Given the description of an element on the screen output the (x, y) to click on. 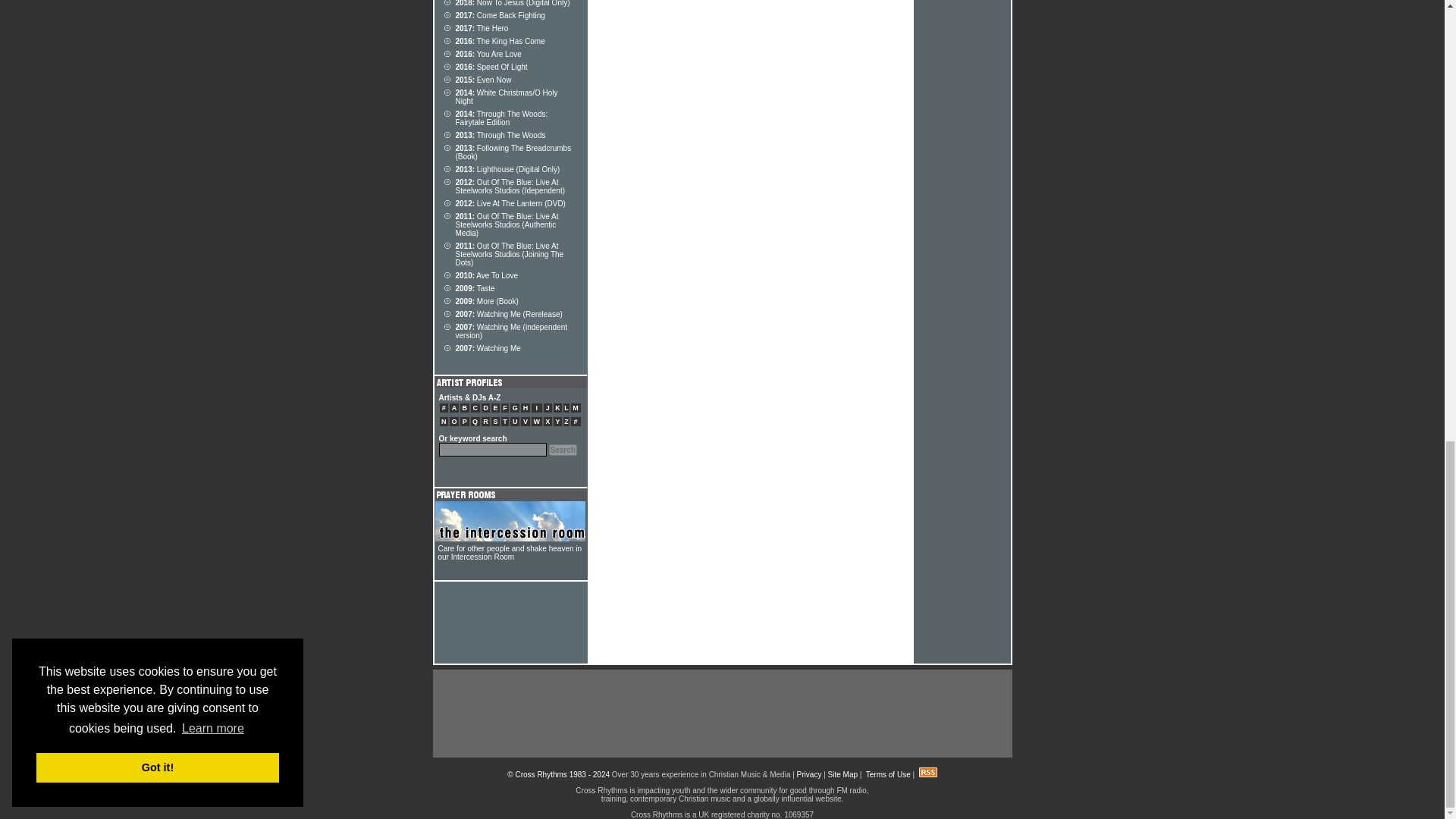
3rd party ad content (721, 713)
Search (562, 449)
